Given the description of an element on the screen output the (x, y) to click on. 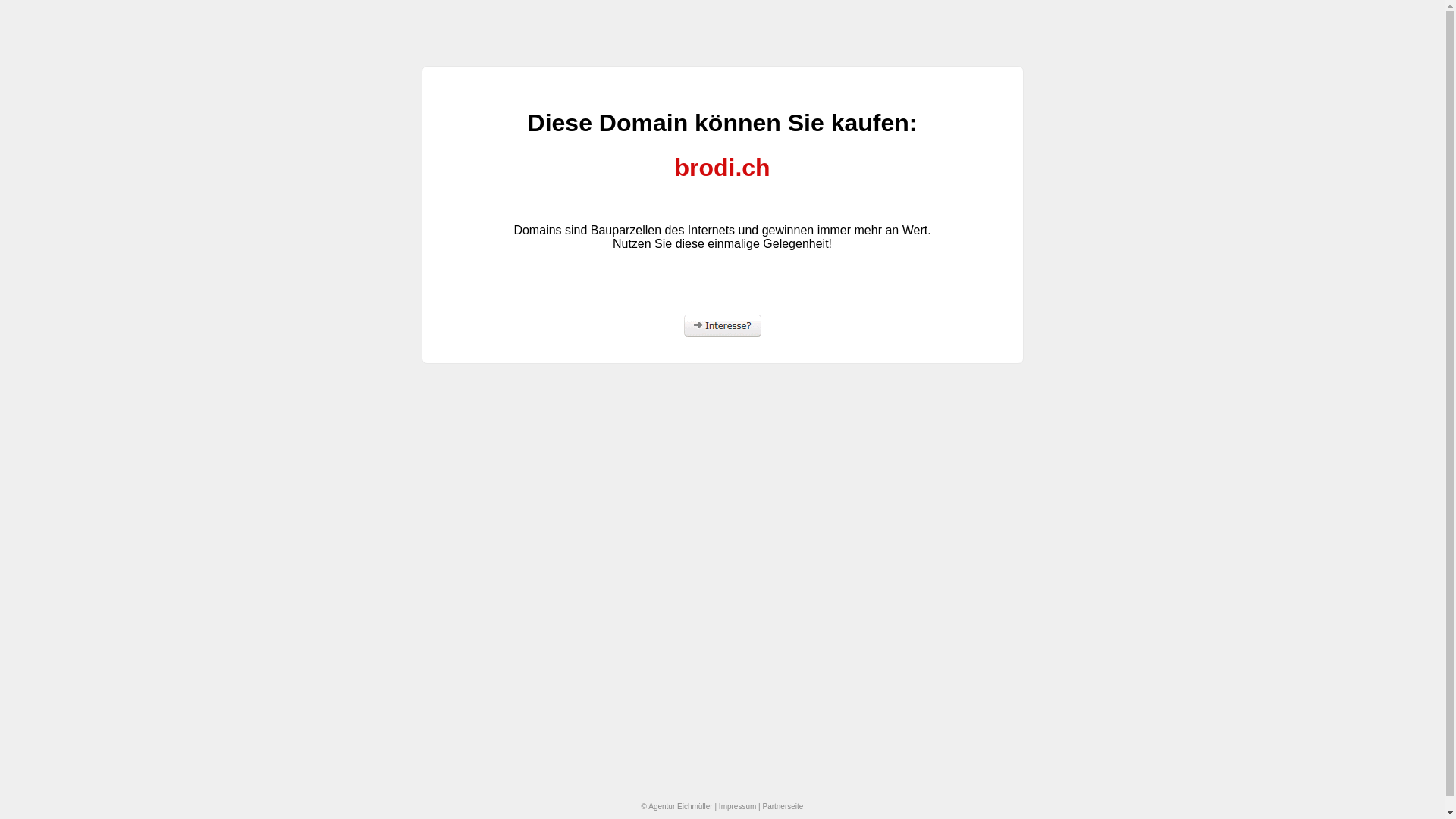
Partnerseite Element type: text (782, 806)
brodi.ch Element type: text (721, 167)
Impressum Element type: text (737, 806)
